Given the description of an element on the screen output the (x, y) to click on. 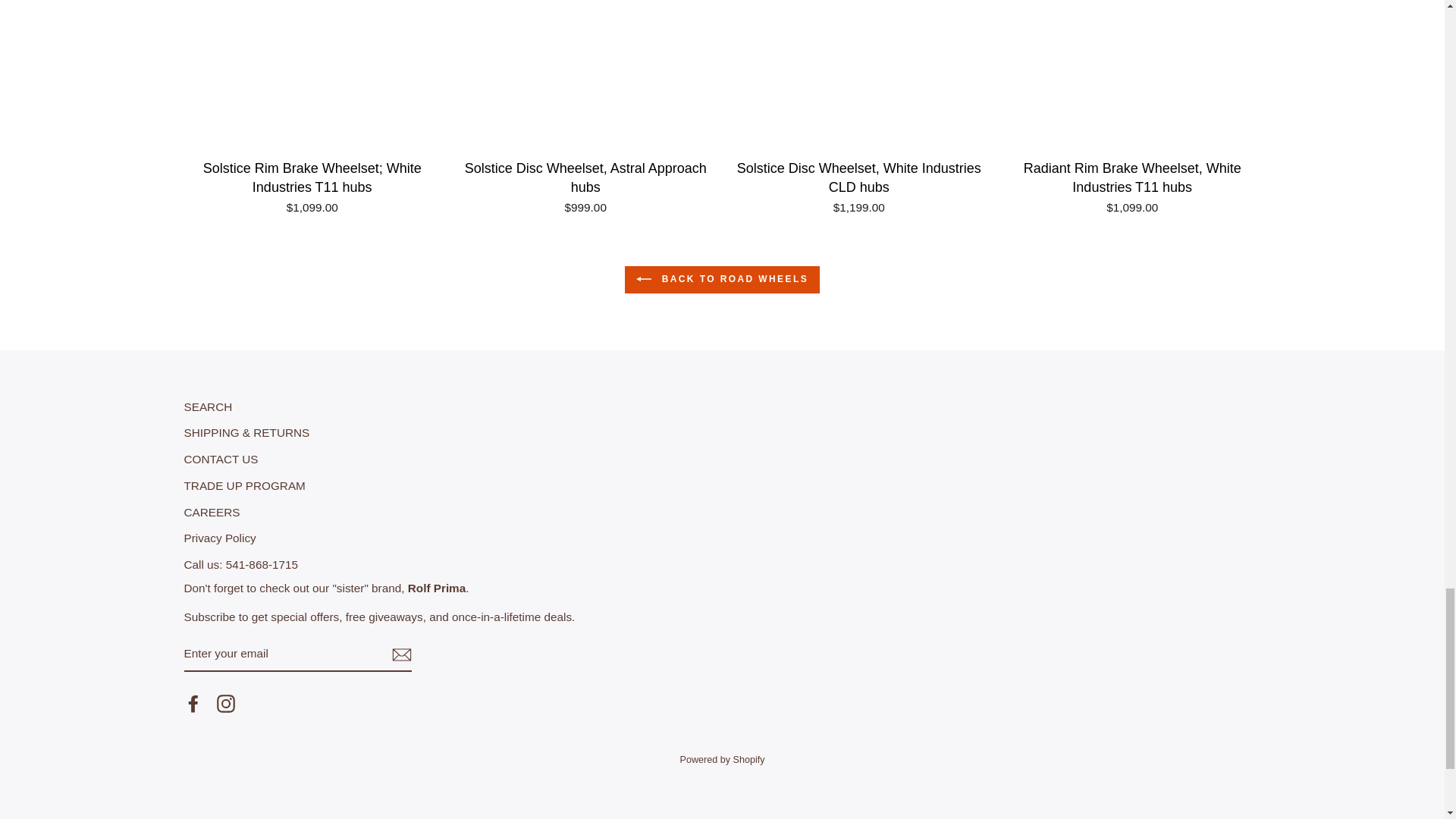
Astral Cycling on Facebook (192, 703)
Astral Cycling on Instagram (225, 703)
